Given the description of an element on the screen output the (x, y) to click on. 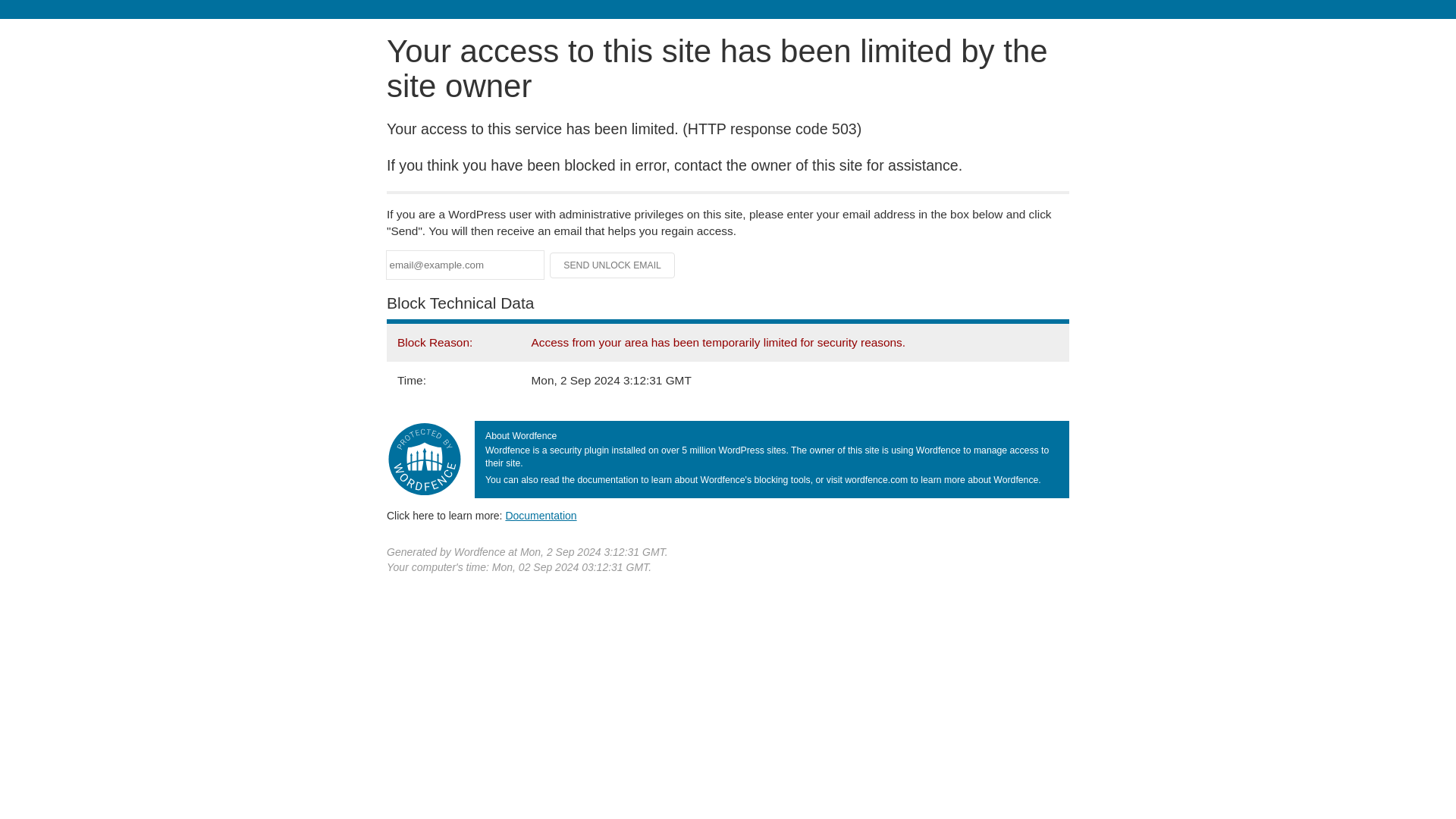
Send Unlock Email (612, 265)
Documentation (540, 515)
Send Unlock Email (612, 265)
